Given the description of an element on the screen output the (x, y) to click on. 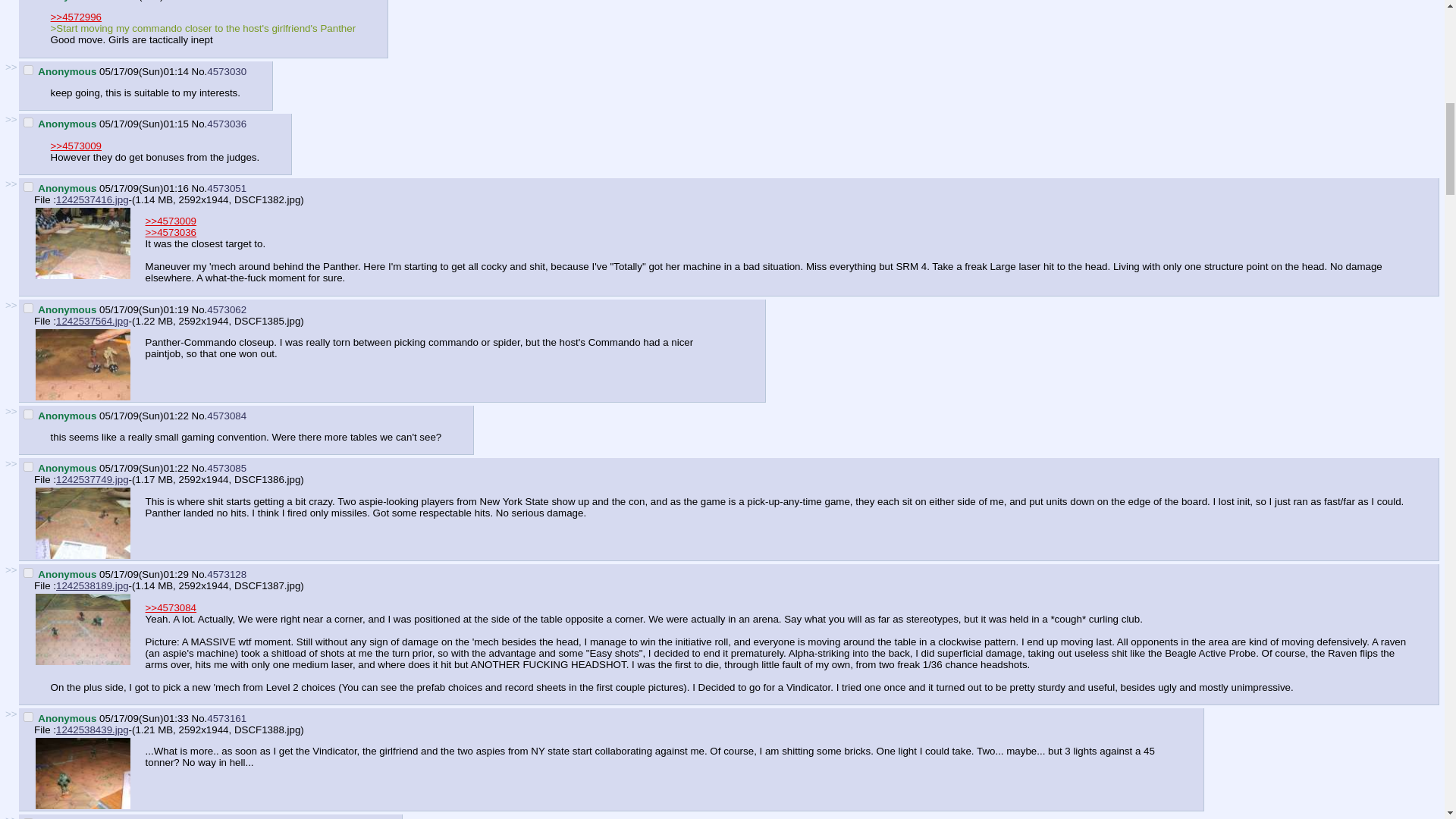
delete (28, 122)
delete (28, 414)
delete (28, 307)
delete (28, 573)
delete (28, 466)
delete (28, 186)
delete (28, 70)
delete (28, 716)
